Given the description of an element on the screen output the (x, y) to click on. 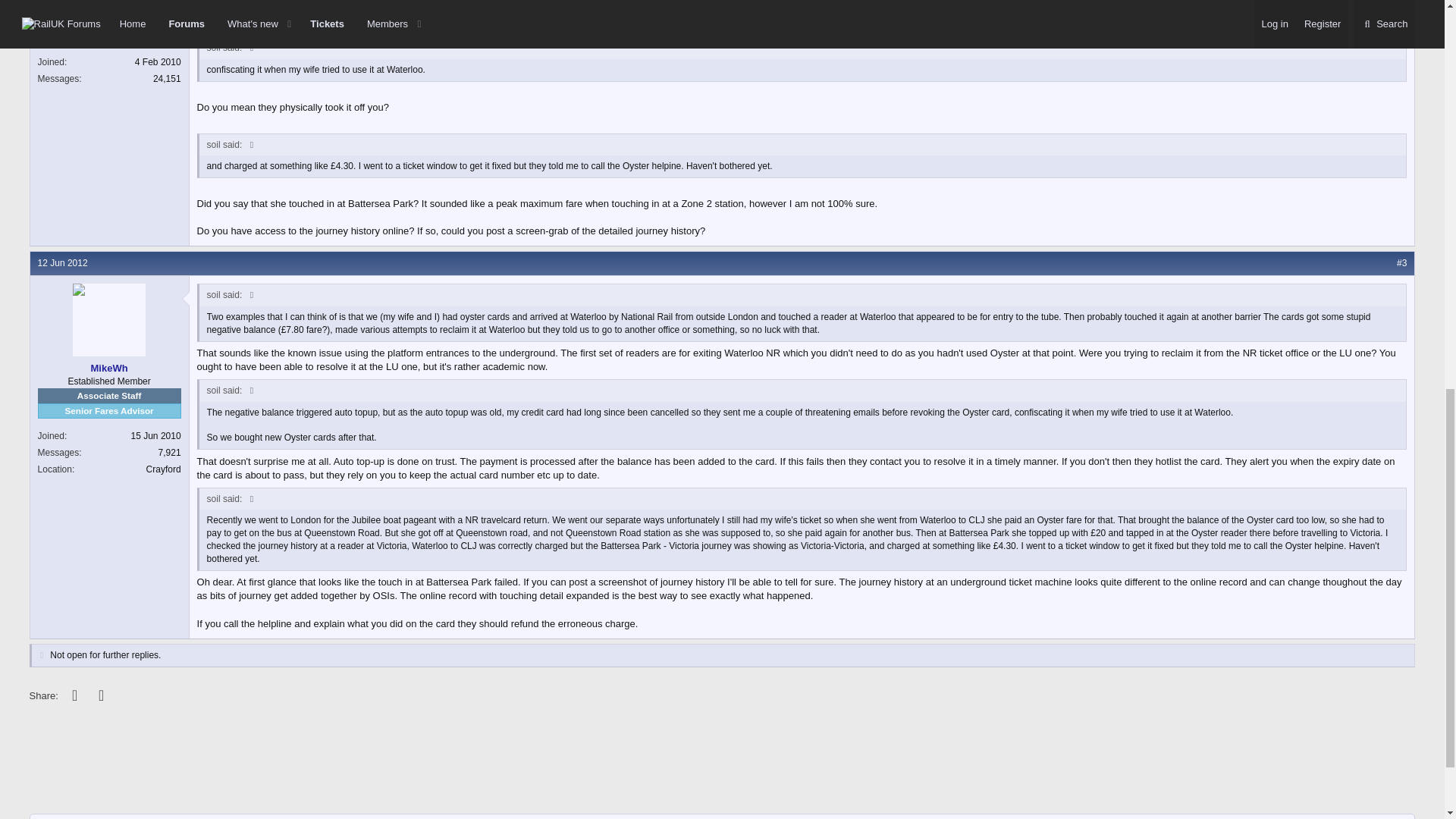
12 Jun 2012 at 10:44 (62, 262)
